Given the description of an element on the screen output the (x, y) to click on. 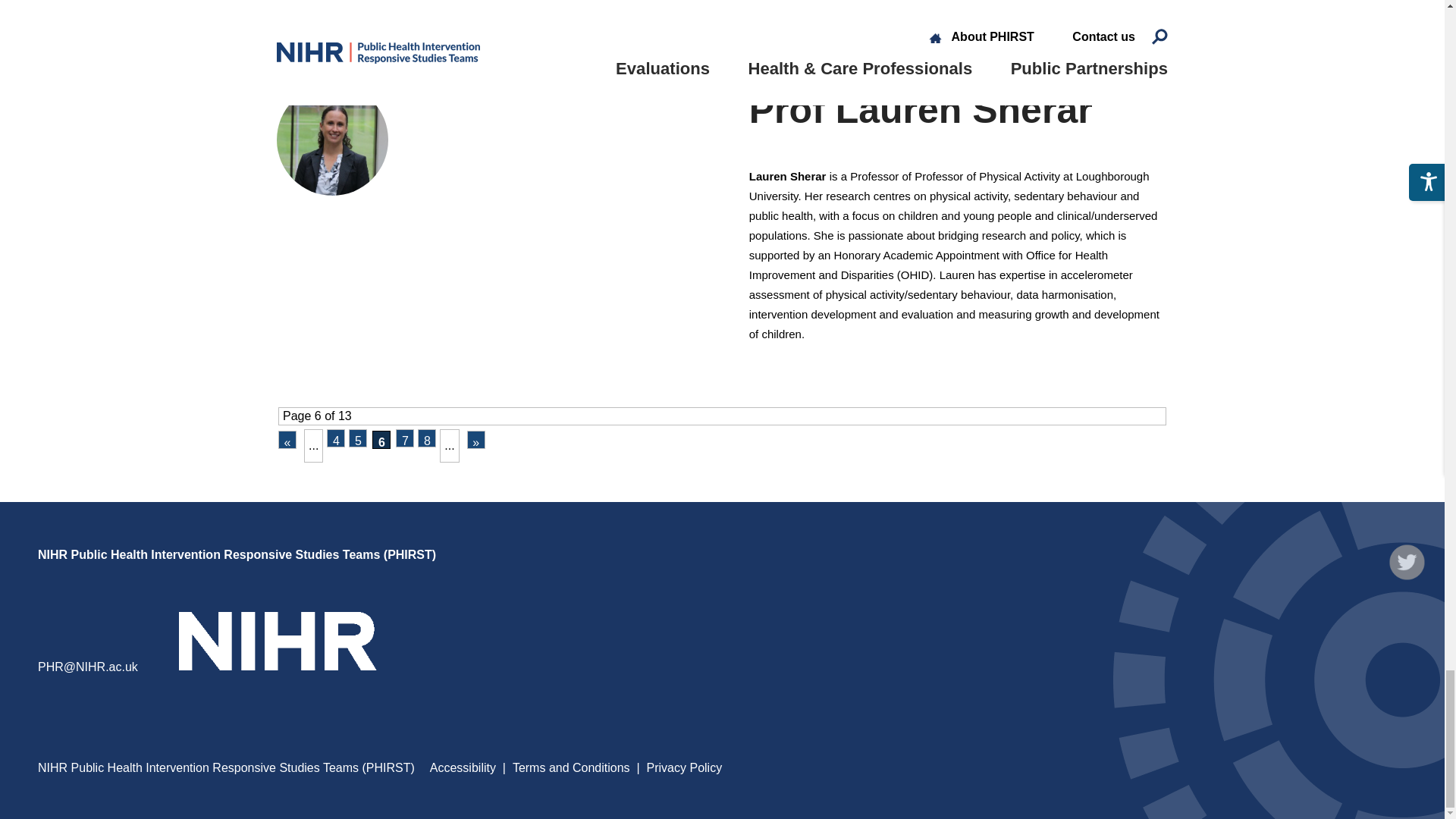
Page 8 (426, 438)
Page 5 (357, 438)
Page 7 (404, 438)
5 (357, 438)
Page 4 (335, 438)
4 (335, 438)
